Given the description of an element on the screen output the (x, y) to click on. 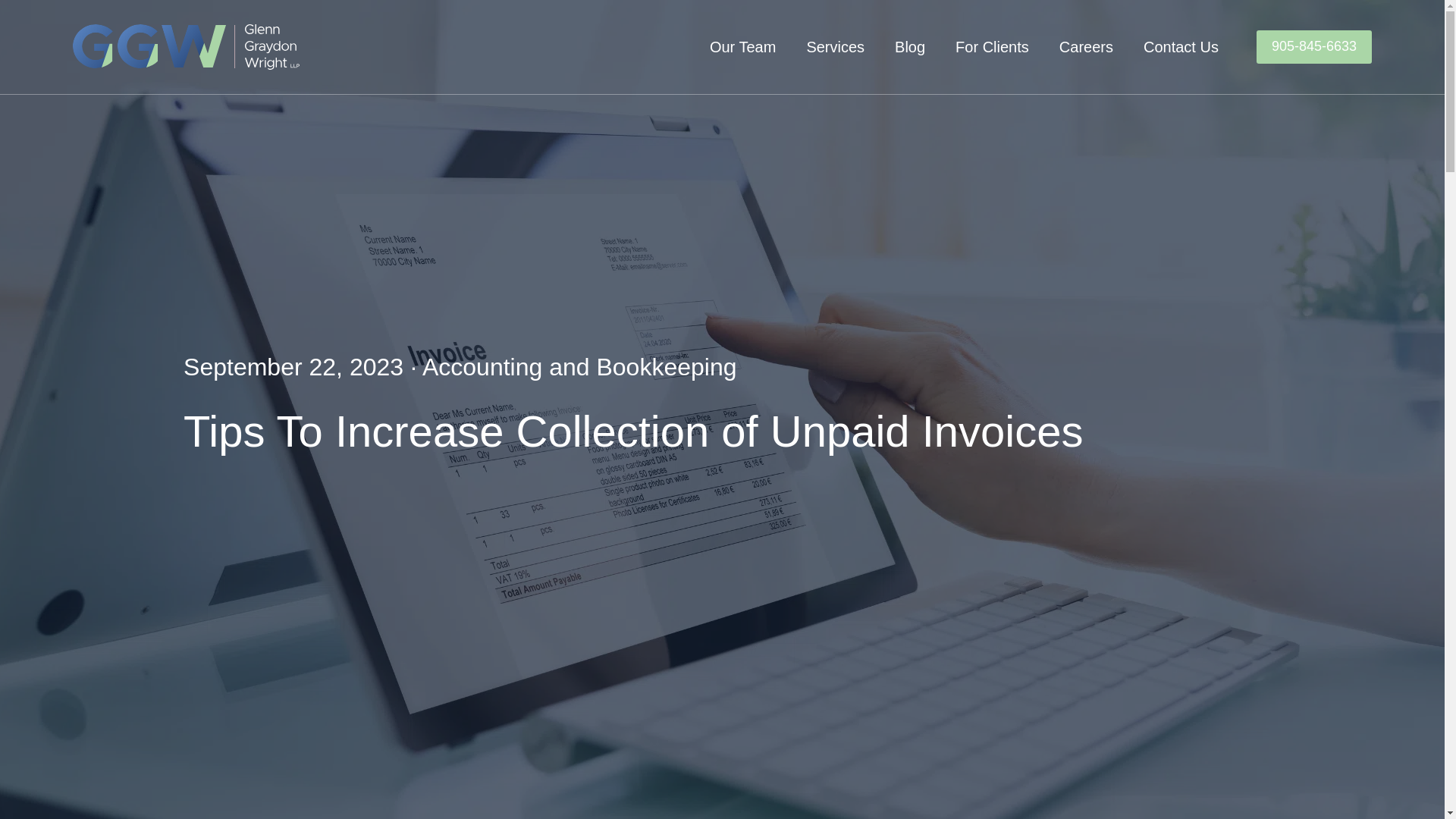
Contact Us (1180, 46)
Careers (1086, 46)
Blog (909, 46)
Services (835, 46)
For Clients (992, 46)
Our Team (743, 46)
905-845-6633 (1313, 46)
